Given the description of an element on the screen output the (x, y) to click on. 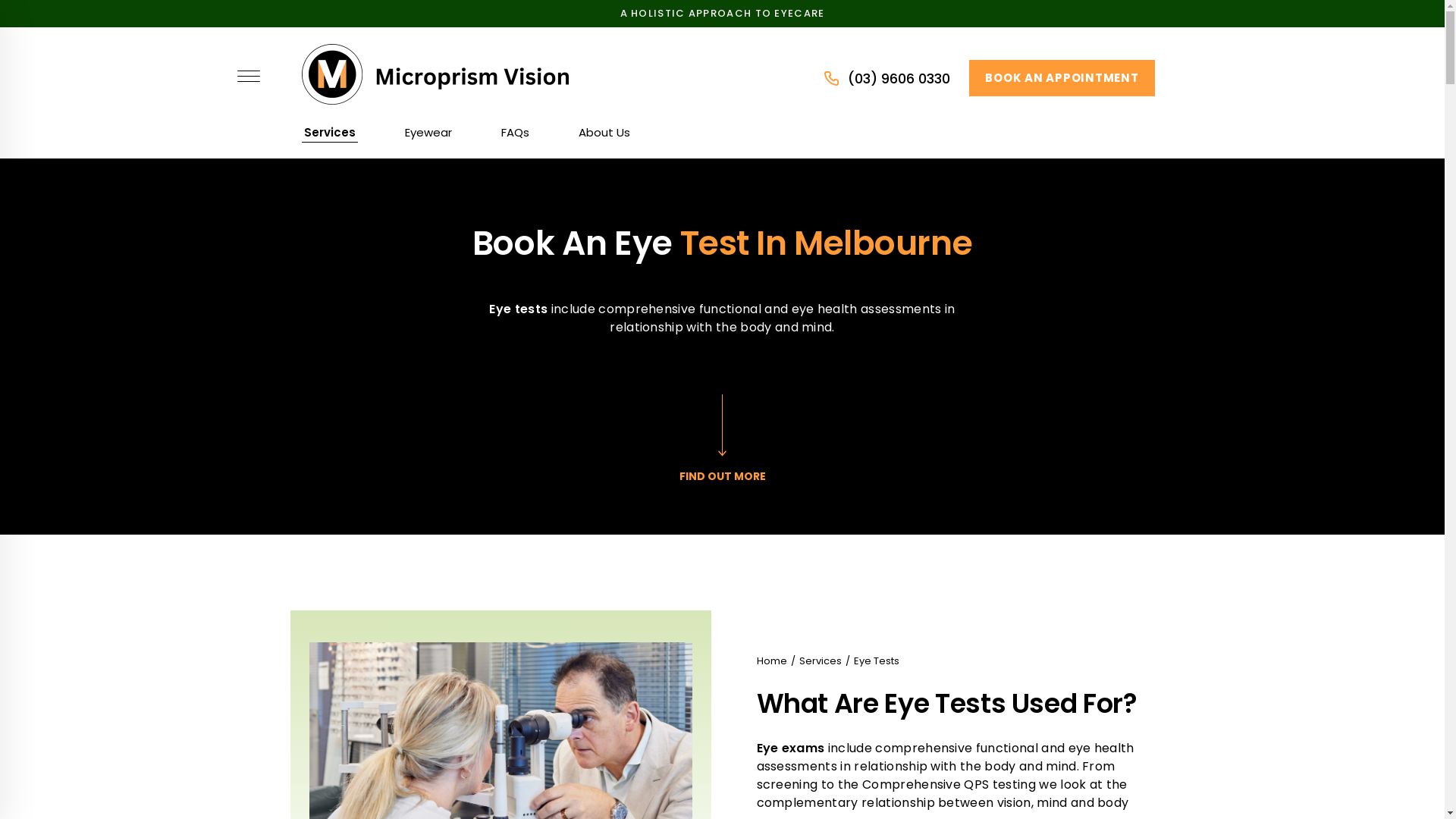
FAQs Element type: text (514, 132)
Eyewear Element type: text (427, 132)
BOOK AN APPOINTMENT Element type: text (1061, 77)
Home Element type: text (771, 660)
Services Element type: text (820, 660)
FIND OUT MORE Element type: text (722, 436)
About Us Element type: text (603, 132)
(03) 9606 0330 Element type: text (887, 78)
Services Element type: text (328, 132)
